Given the description of an element on the screen output the (x, y) to click on. 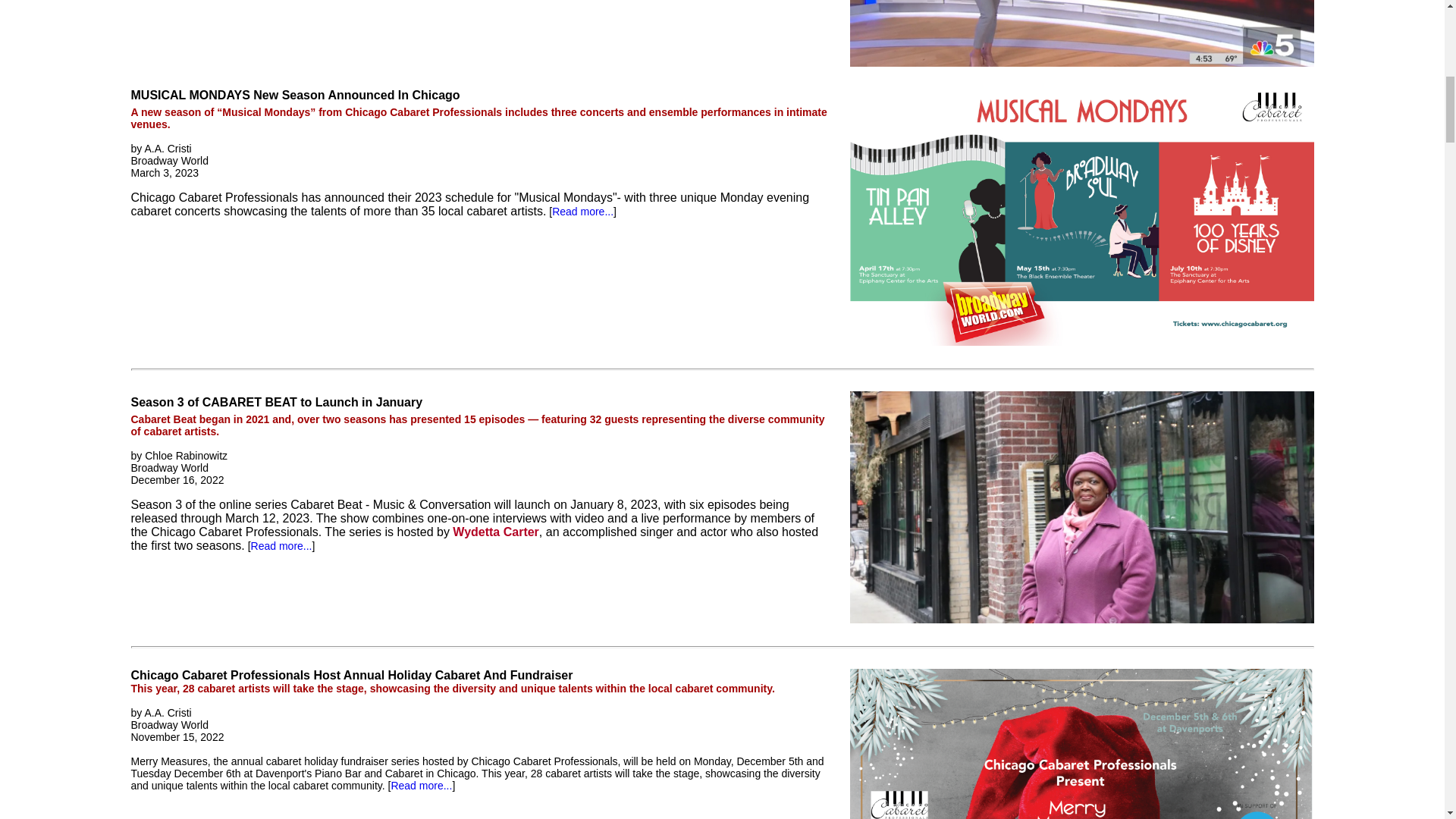
.png (1080, 744)
